Given the description of an element on the screen output the (x, y) to click on. 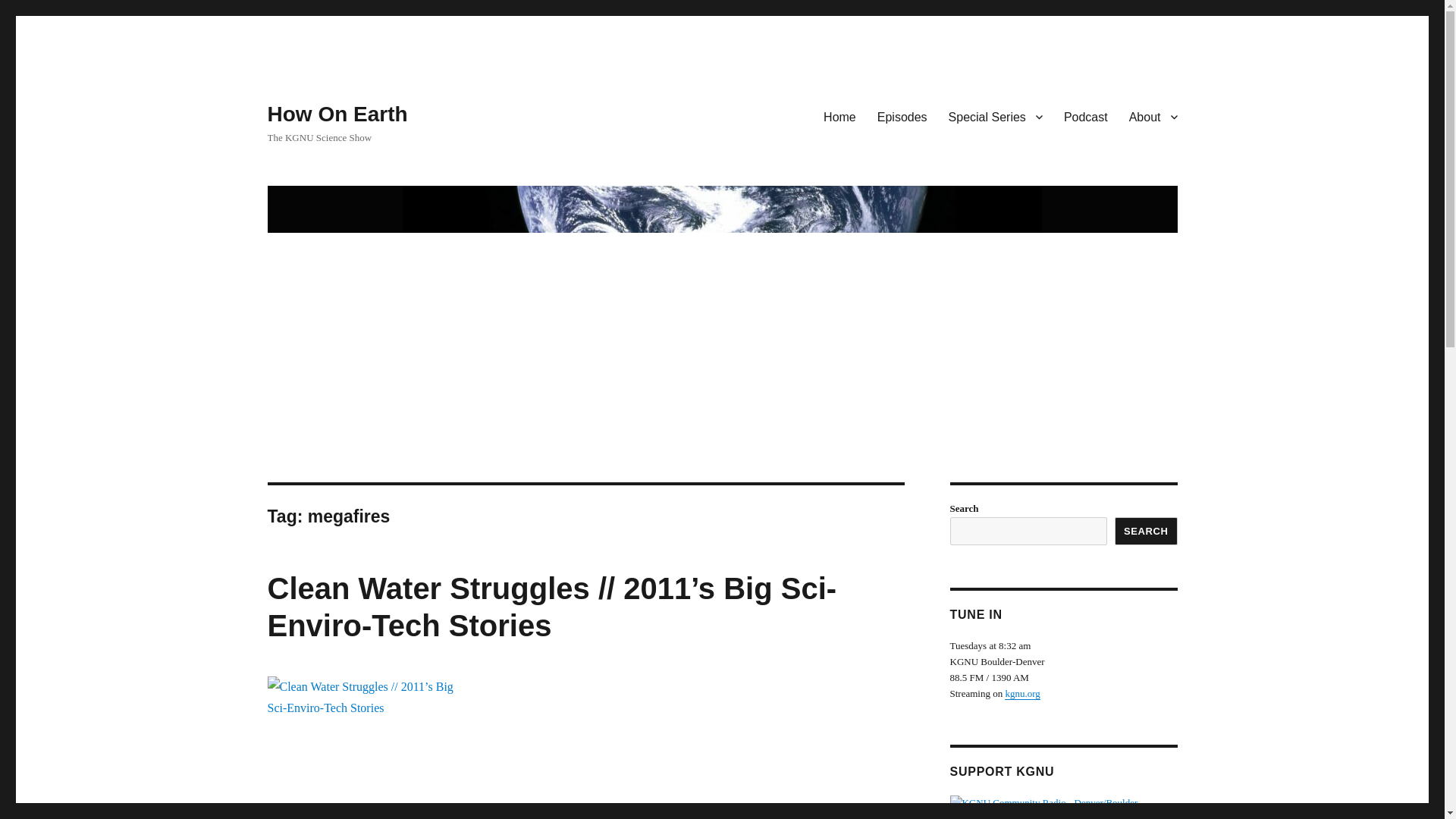
Episodes (901, 116)
About (1153, 116)
Podcast (1085, 116)
How On Earth (336, 114)
Special Series (994, 116)
Home (839, 116)
